Given the description of an element on the screen output the (x, y) to click on. 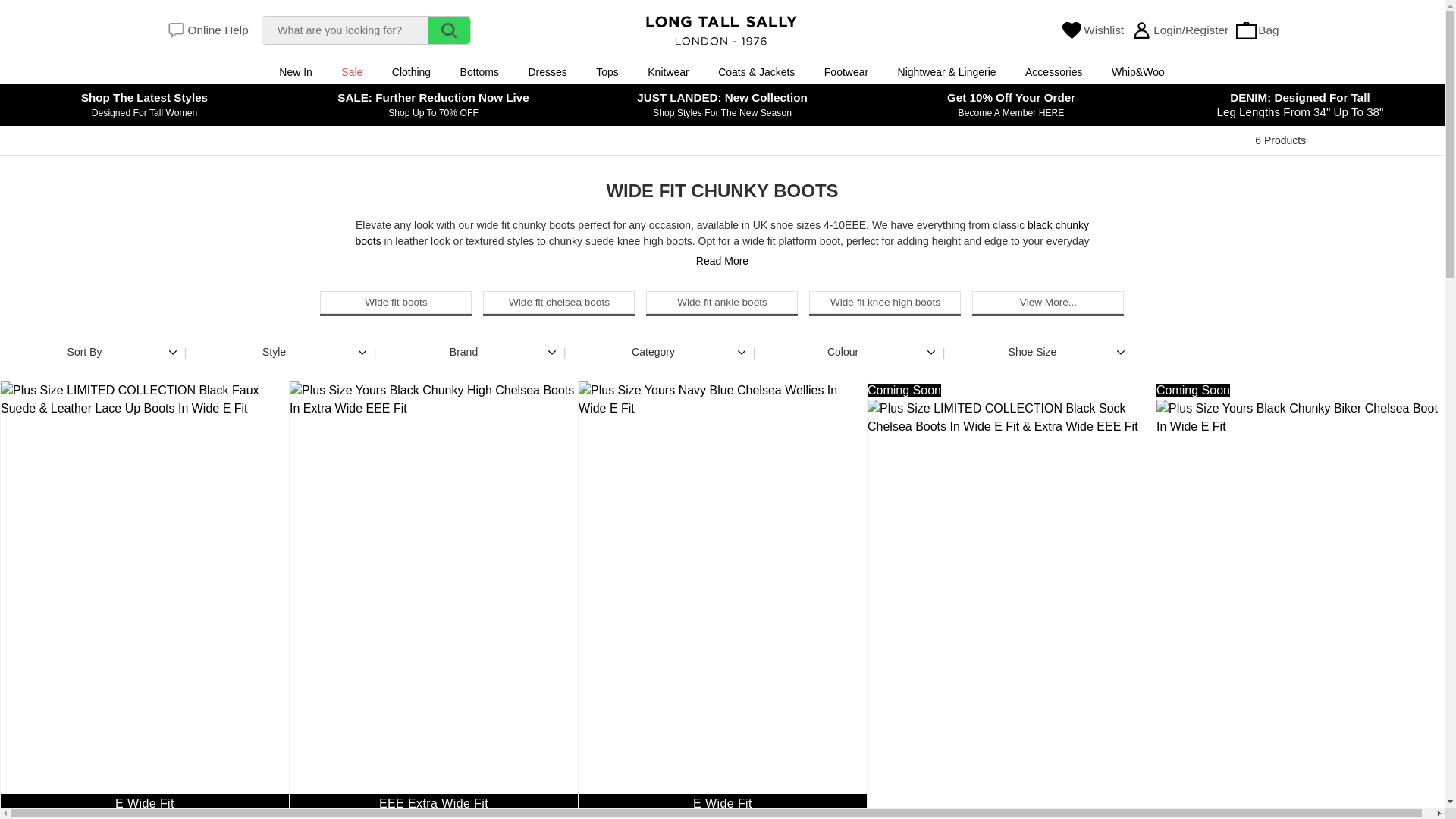
View your Wishlist (1092, 30)
Search (449, 30)
Online Help (206, 30)
Wishlist (1092, 30)
New In (295, 72)
Online Help (206, 30)
